Given the description of an element on the screen output the (x, y) to click on. 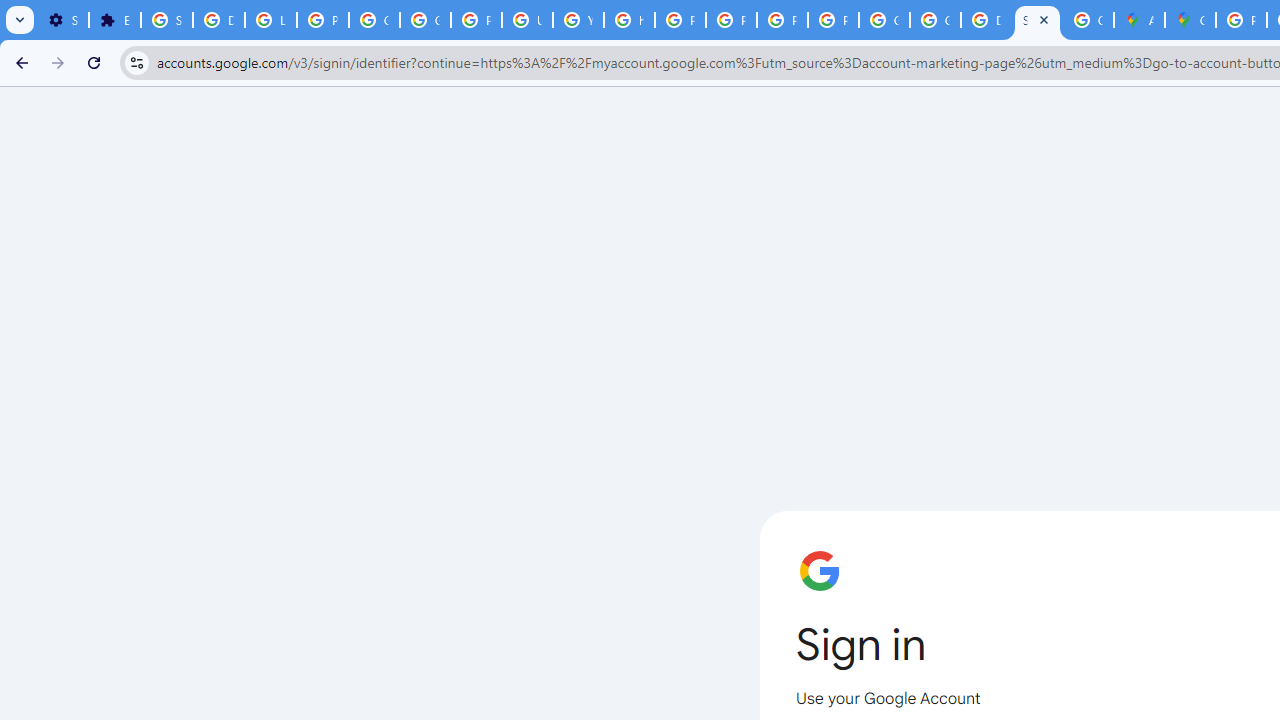
View site information (136, 62)
Extensions (114, 20)
Sign in - Google Accounts (166, 20)
System (10, 11)
YouTube (578, 20)
Settings - On startup (63, 20)
Back (19, 62)
Policy Accountability and Transparency - Transparency Center (1241, 20)
Learn how to find your photos - Google Photos Help (270, 20)
Create your Google Account (1087, 20)
